Given the description of an element on the screen output the (x, y) to click on. 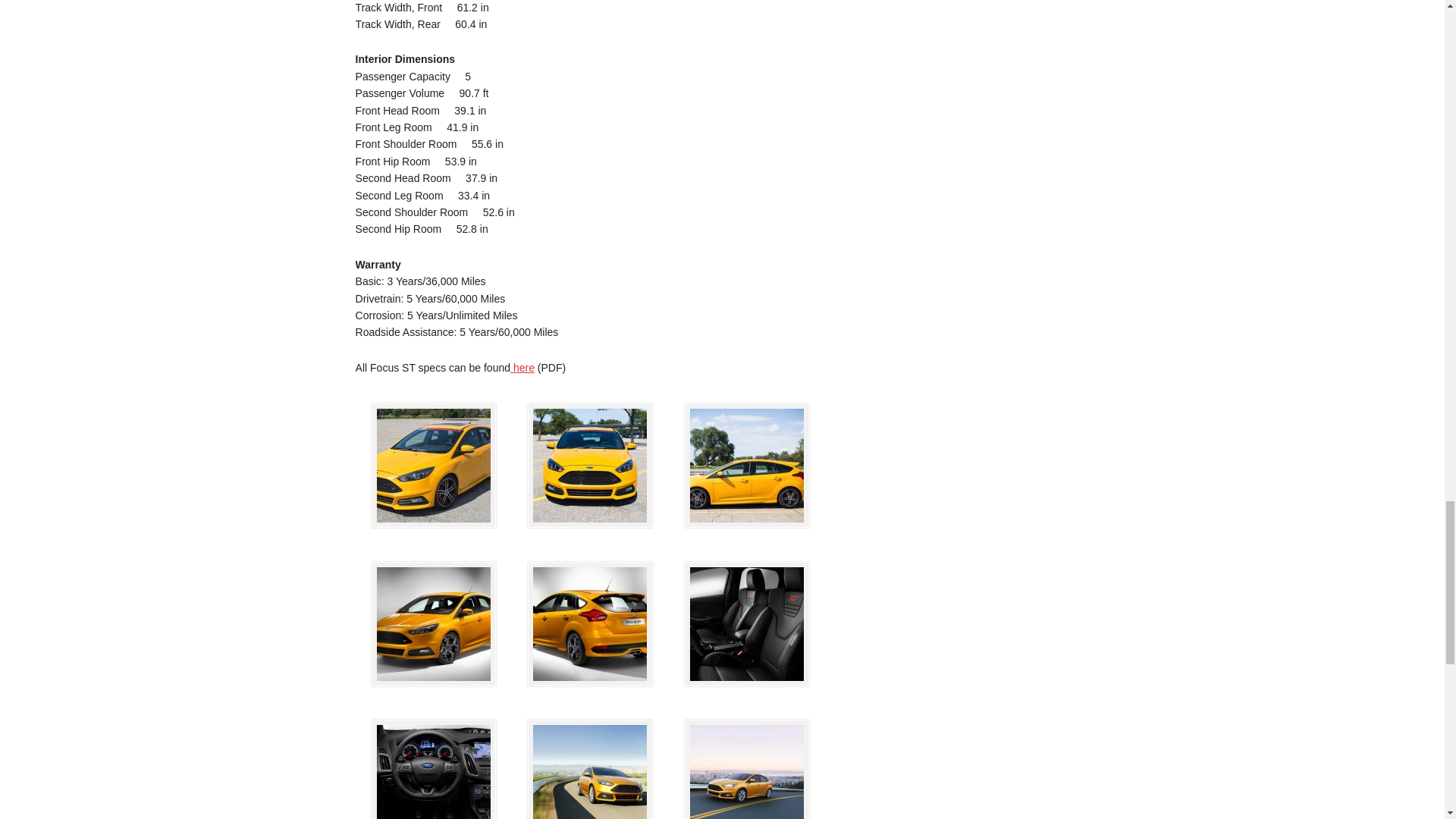
here (522, 367)
